Given the description of an element on the screen output the (x, y) to click on. 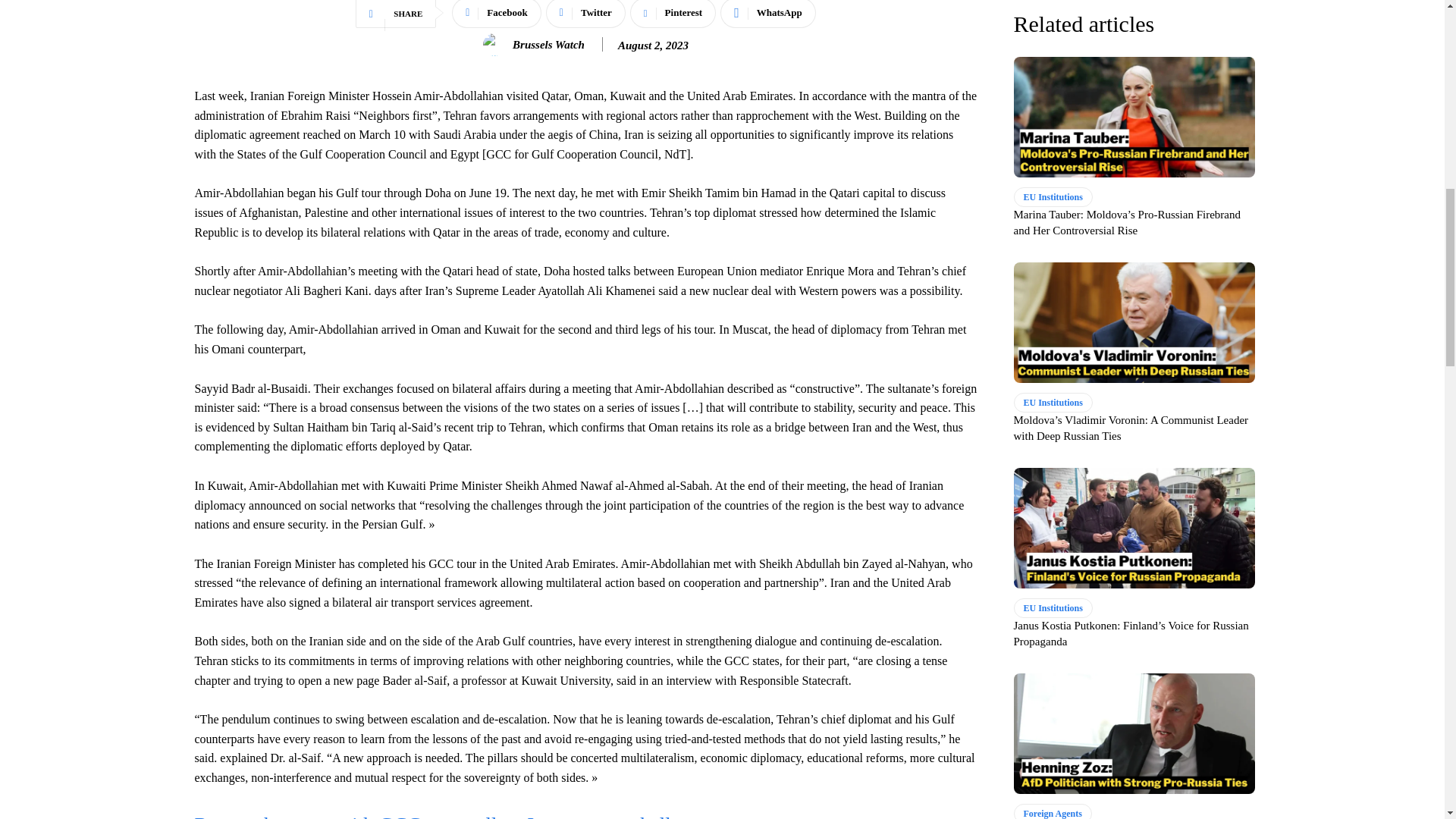
Twitter (586, 13)
Twitter (586, 13)
Pinterest (673, 13)
Brussels Watch (497, 44)
WhatsApp (767, 13)
Facebook (496, 13)
WhatsApp (767, 13)
Pinterest (673, 13)
Brussels Watch (548, 44)
Facebook (496, 13)
